Given the description of an element on the screen output the (x, y) to click on. 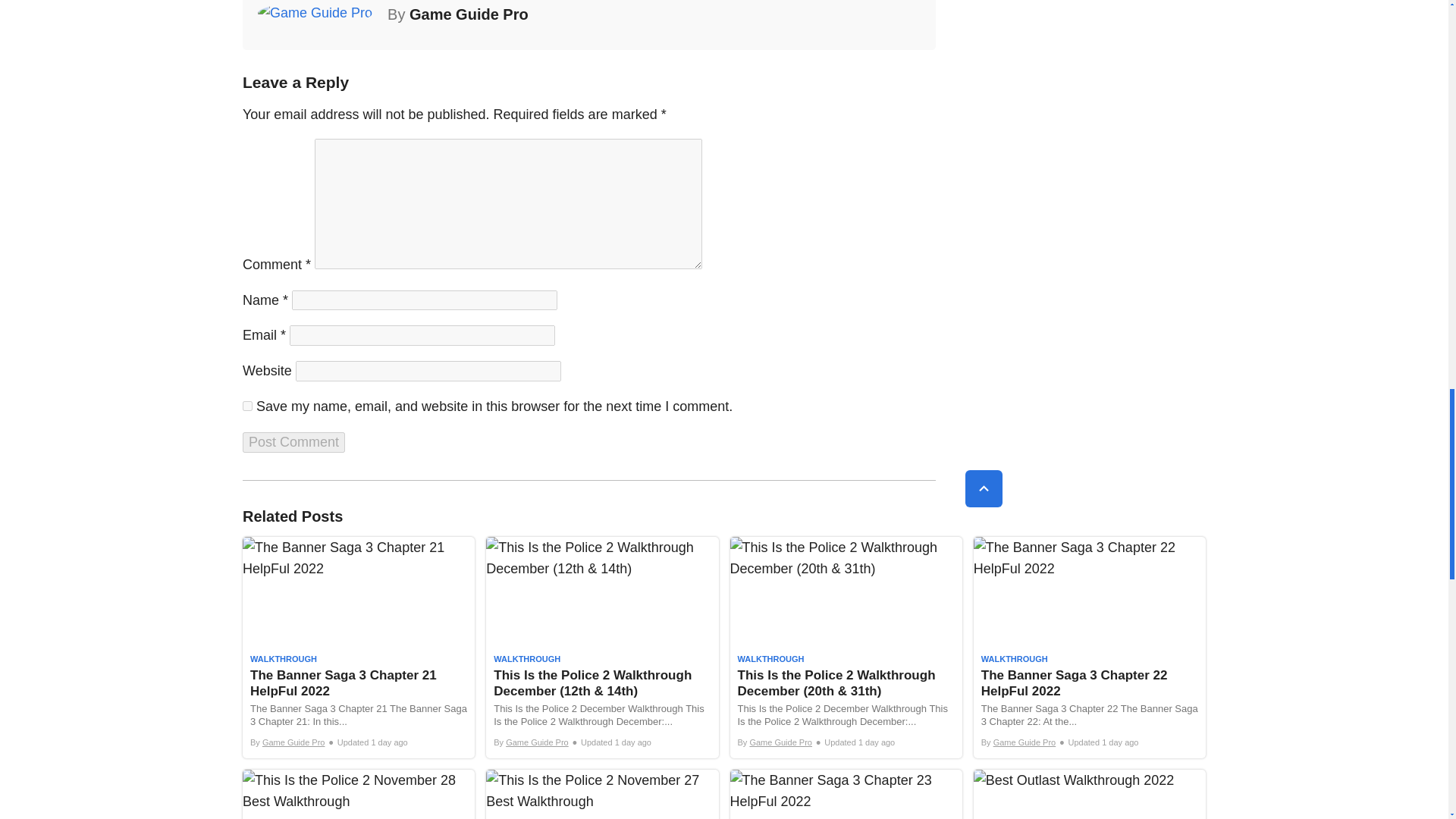
Permanent Link to The Banner Saga 3 Chapter 21 HelpFul 2022 (358, 647)
Game Guide Pro (468, 13)
yes (247, 406)
Permanent Link to Best Outlast Walkthrough 2022 (1089, 794)
Post Comment (294, 442)
Post Comment (294, 442)
Permanent Link to The Banner Saga 3 Chapter 22 HelpFul 2022 (1089, 647)
Permanent Link to The Banner Saga 3 Chapter 23 HelpFul 2022 (844, 794)
